Given the description of an element on the screen output the (x, y) to click on. 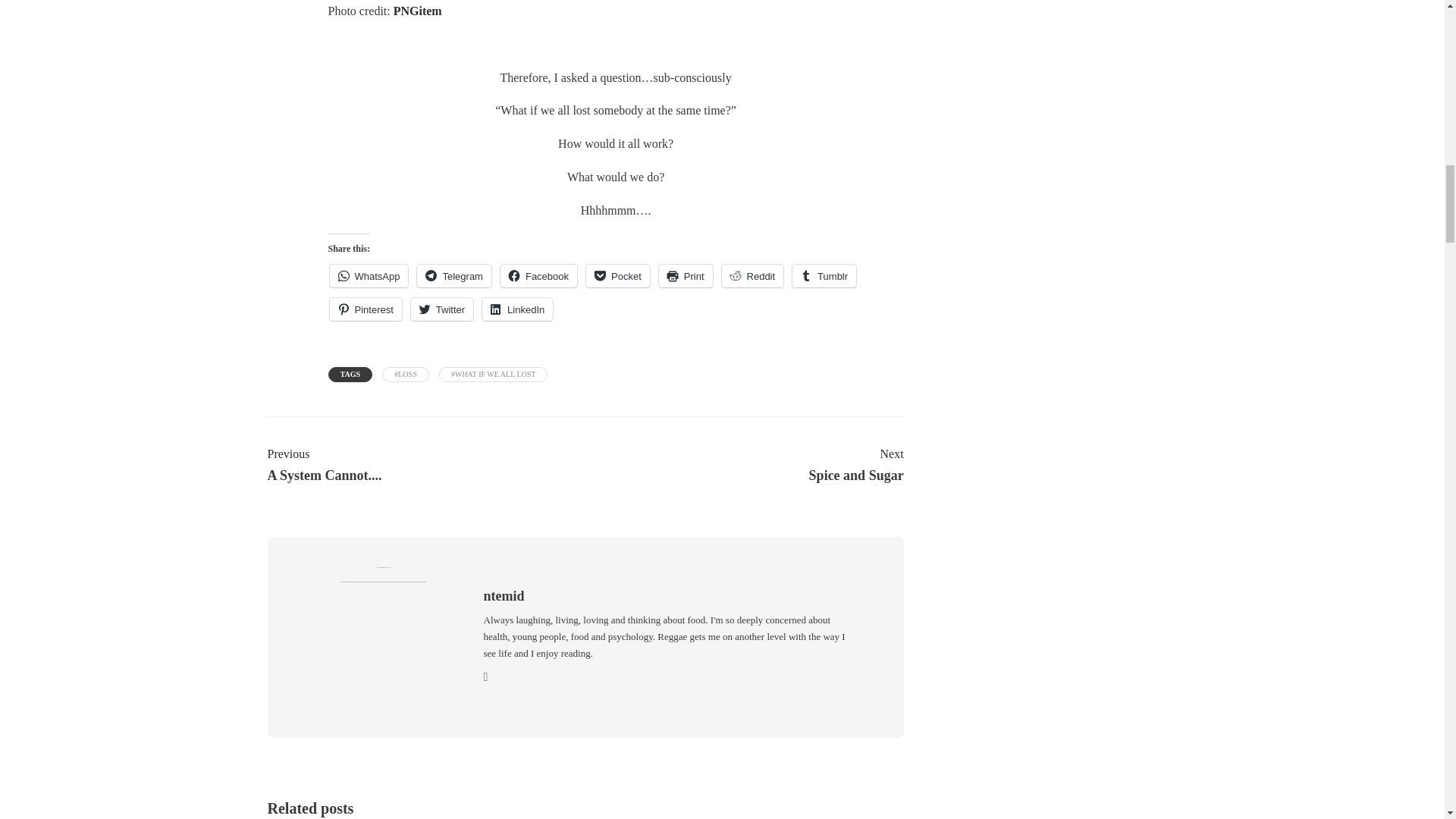
Click to share on Pinterest (365, 309)
Click to share on Twitter (441, 309)
Click to share on Reddit (753, 275)
Click to share on WhatsApp (368, 275)
Click to print (686, 275)
Click to share on Tumblr (824, 275)
Click to share on LinkedIn (517, 309)
Click to share on Pocket (617, 275)
Click to share on Facebook (538, 275)
Click to share on Telegram (453, 275)
